Given the description of an element on the screen output the (x, y) to click on. 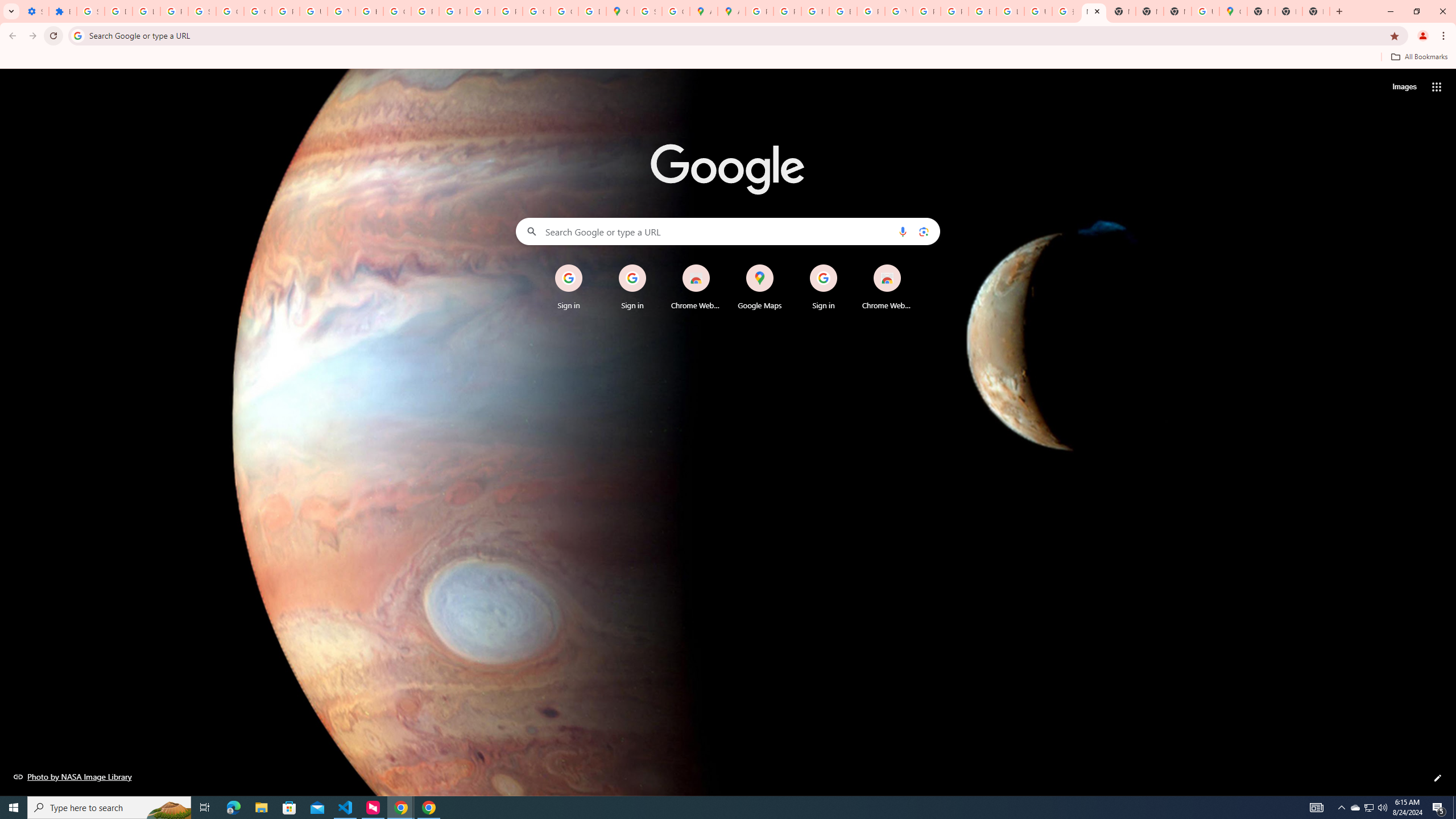
Settings - On startup (34, 11)
YouTube (341, 11)
Google Maps (620, 11)
New Tab (1260, 11)
Sign in - Google Accounts (647, 11)
Chrome Web Store (887, 287)
Create your Google Account (675, 11)
https://scholar.google.com/ (369, 11)
